Given the description of an element on the screen output the (x, y) to click on. 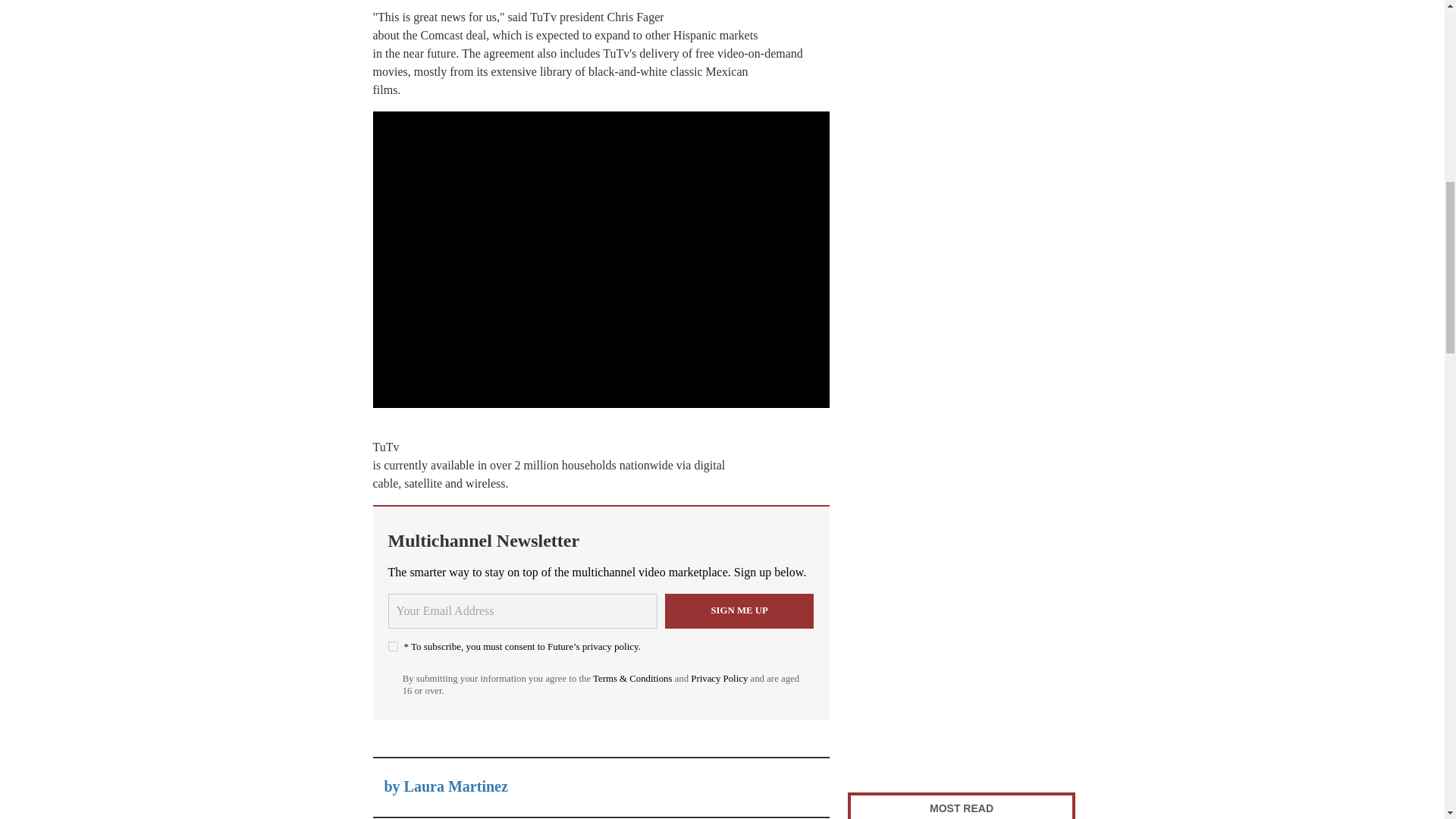
by Laura Martinez (445, 786)
Sign me up (739, 610)
Privacy Policy (719, 678)
on (392, 646)
Sign me up (739, 610)
